Given the description of an element on the screen output the (x, y) to click on. 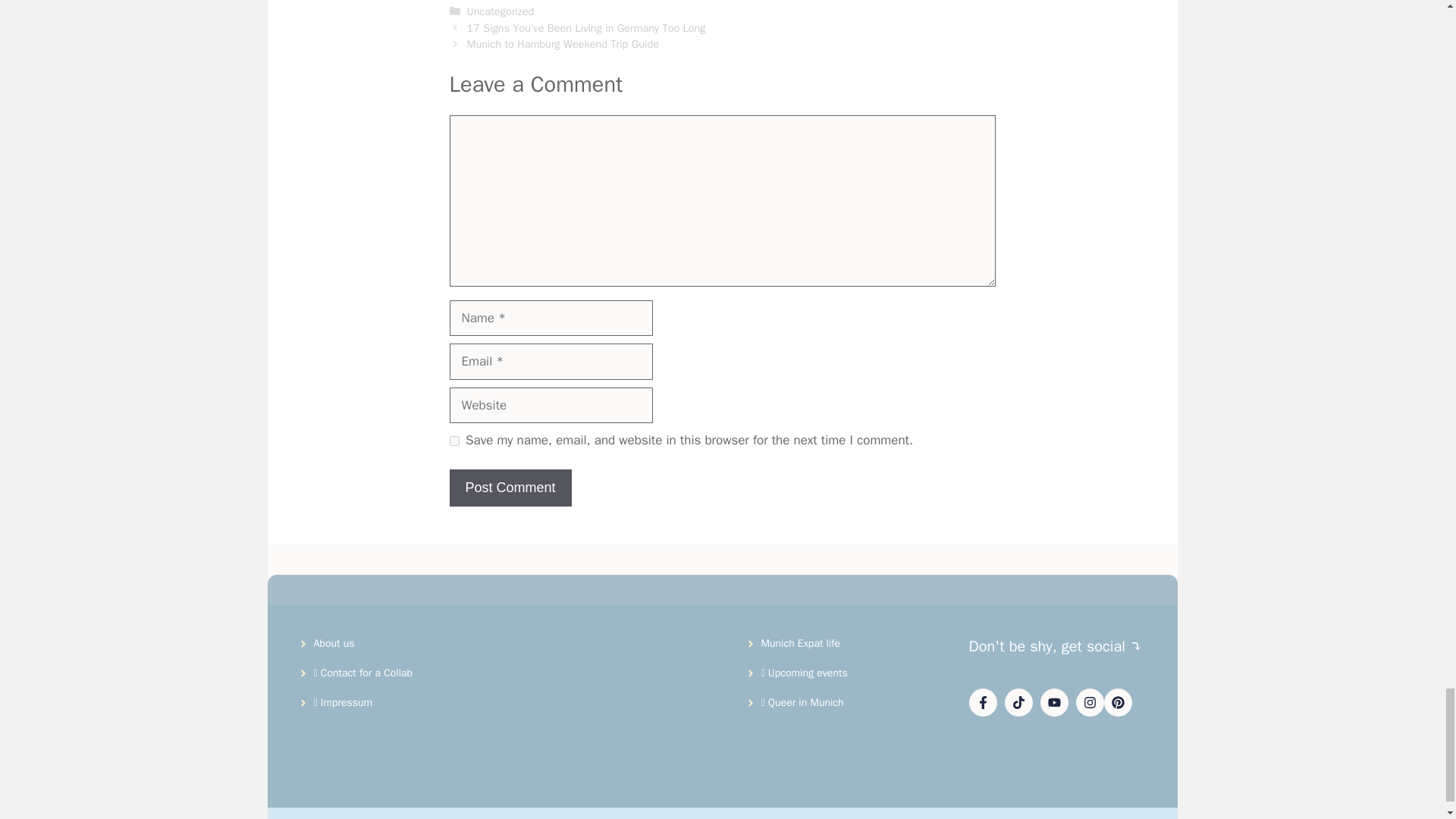
yes (453, 439)
Post Comment (509, 487)
